Given the description of an element on the screen output the (x, y) to click on. 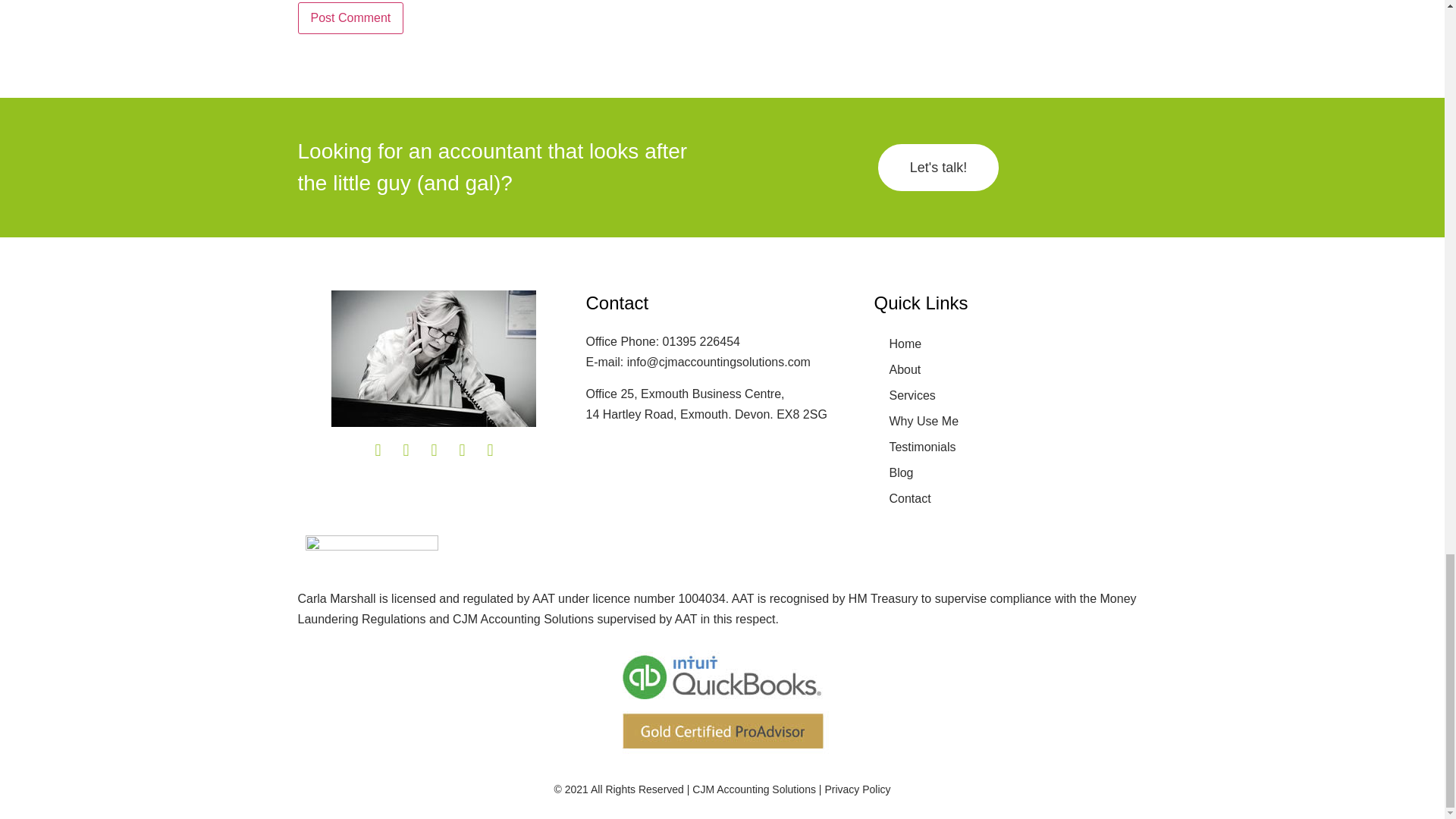
01395 226454 (700, 341)
Home (1010, 344)
Blog (1010, 473)
Post Comment (350, 18)
About (1010, 370)
Let's talk! (937, 167)
Testimonials (1010, 447)
Post Comment (350, 18)
Services (1010, 395)
Why Use Me (1010, 421)
